Given the description of an element on the screen output the (x, y) to click on. 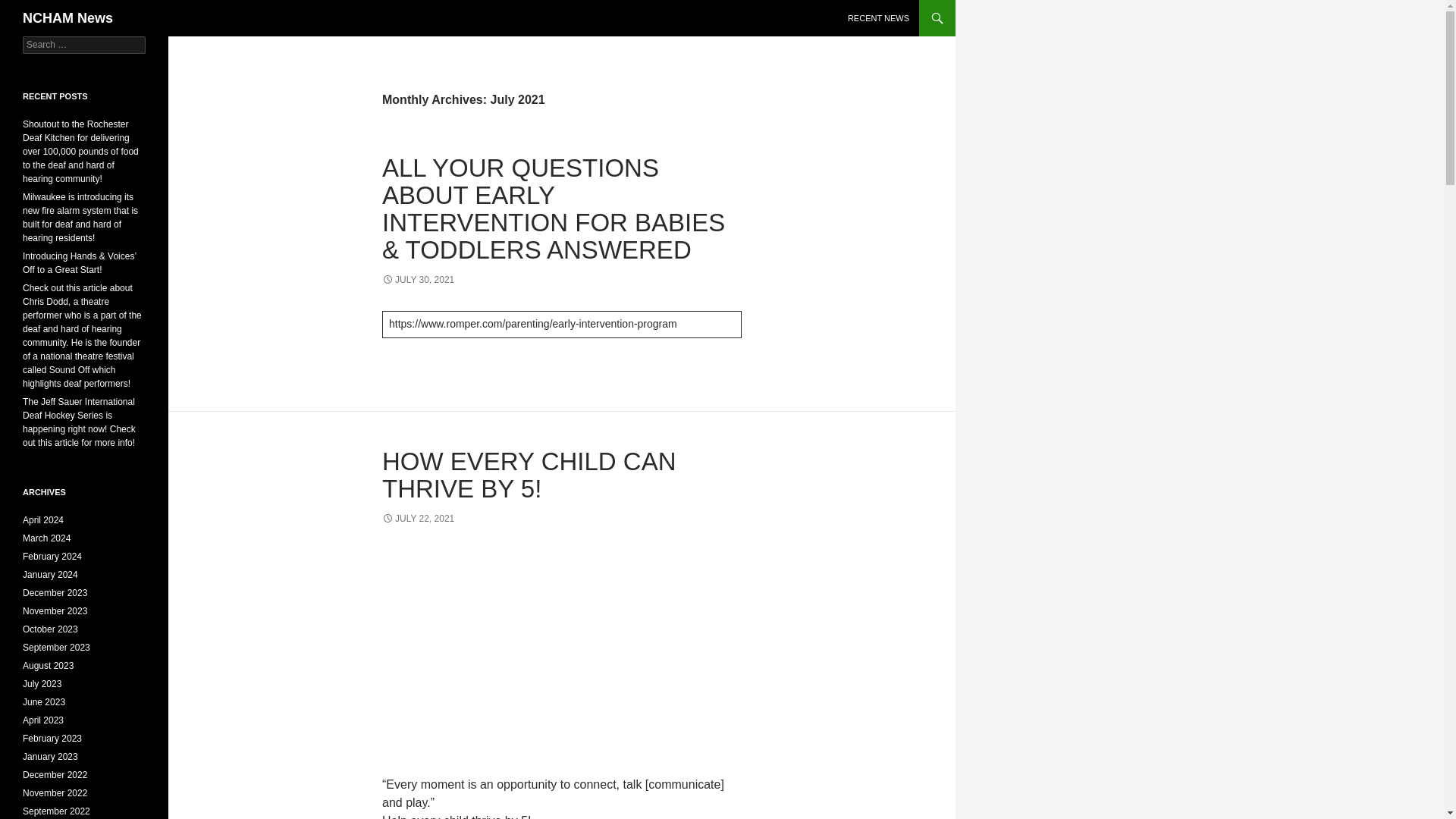
JULY 22, 2021 (417, 518)
JULY 30, 2021 (417, 279)
April 2024 (43, 520)
NCHAM News (68, 17)
HOW EVERY CHILD CAN THRIVE BY 5! (529, 474)
RECENT NEWS (878, 18)
Molly Wright: How every child can thrive by five (561, 650)
